Given the description of an element on the screen output the (x, y) to click on. 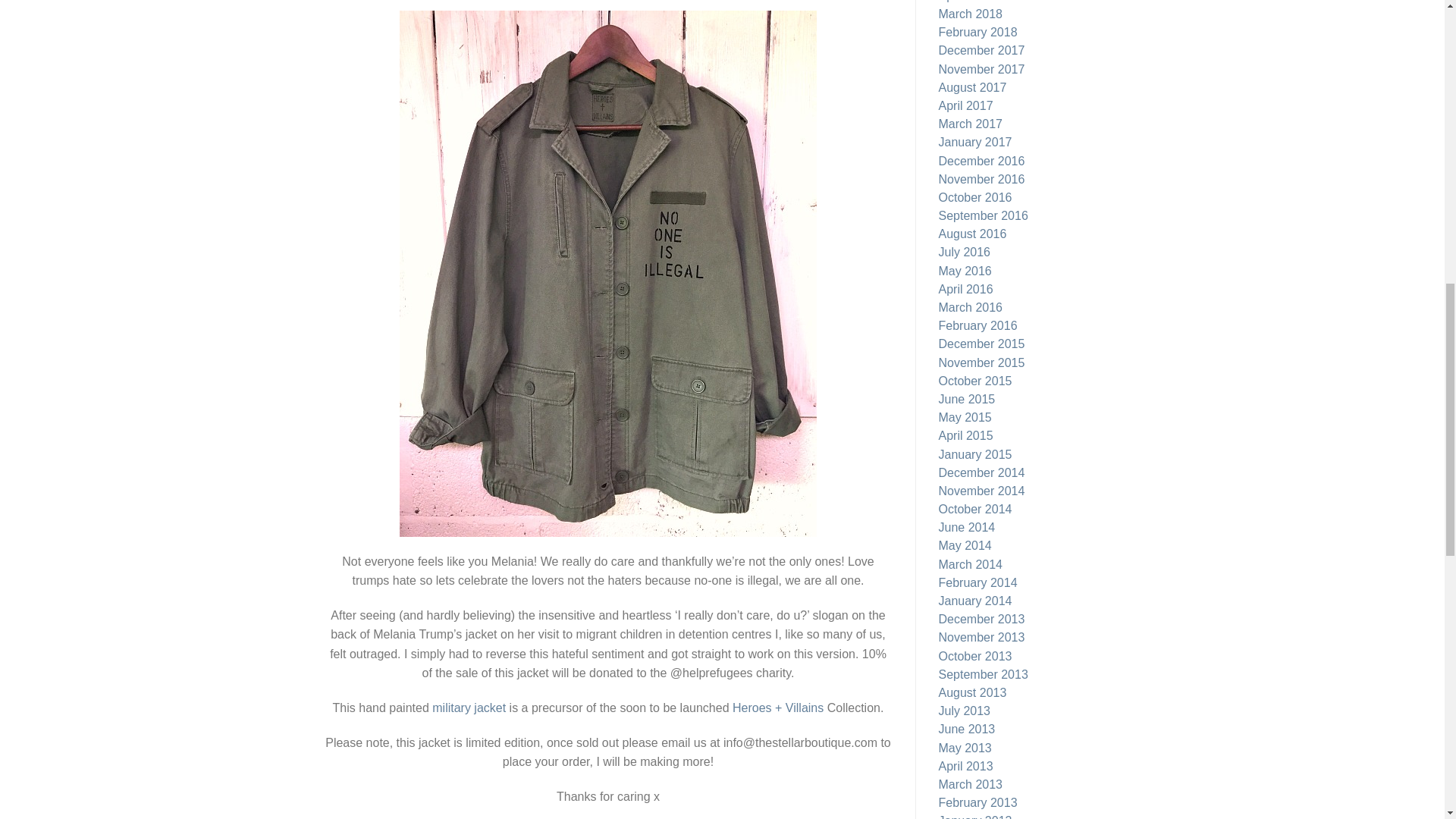
military jacket (468, 707)
